Given the description of an element on the screen output the (x, y) to click on. 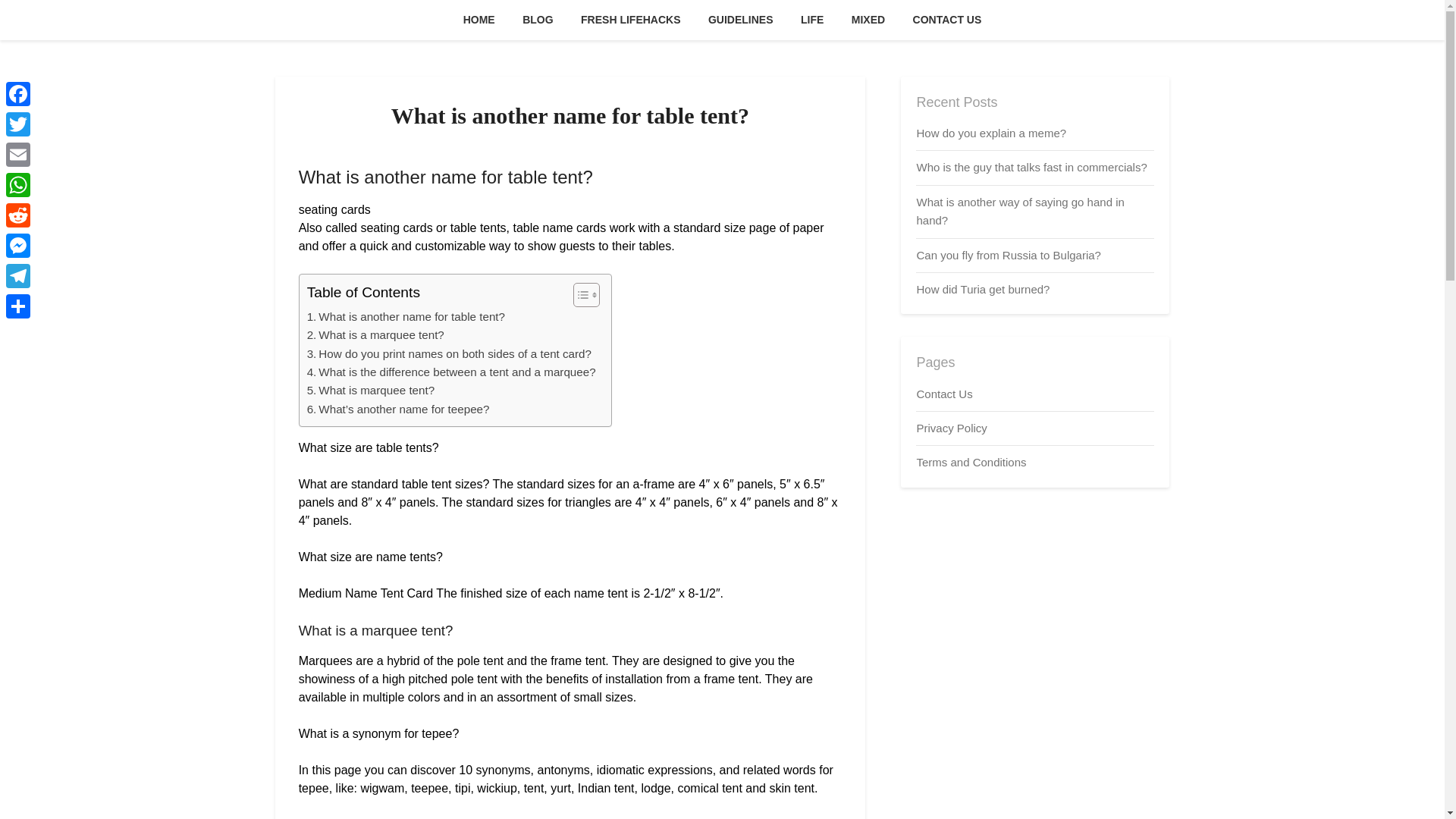
What is another name for table tent? (406, 316)
Reddit (17, 214)
What is marquee tent? (371, 390)
Contact Us (943, 392)
How do you print names on both sides of a tent card? (449, 353)
What is marquee tent? (371, 390)
Can you fly from Russia to Bulgaria? (1007, 254)
Privacy Policy (951, 427)
How did Turia get burned? (982, 288)
How do you explain a meme? (990, 132)
BLOG (537, 20)
What is the difference between a tent and a marquee? (451, 372)
GUIDELINES (740, 20)
HOME (478, 20)
How do you print names on both sides of a tent card? (449, 353)
